Given the description of an element on the screen output the (x, y) to click on. 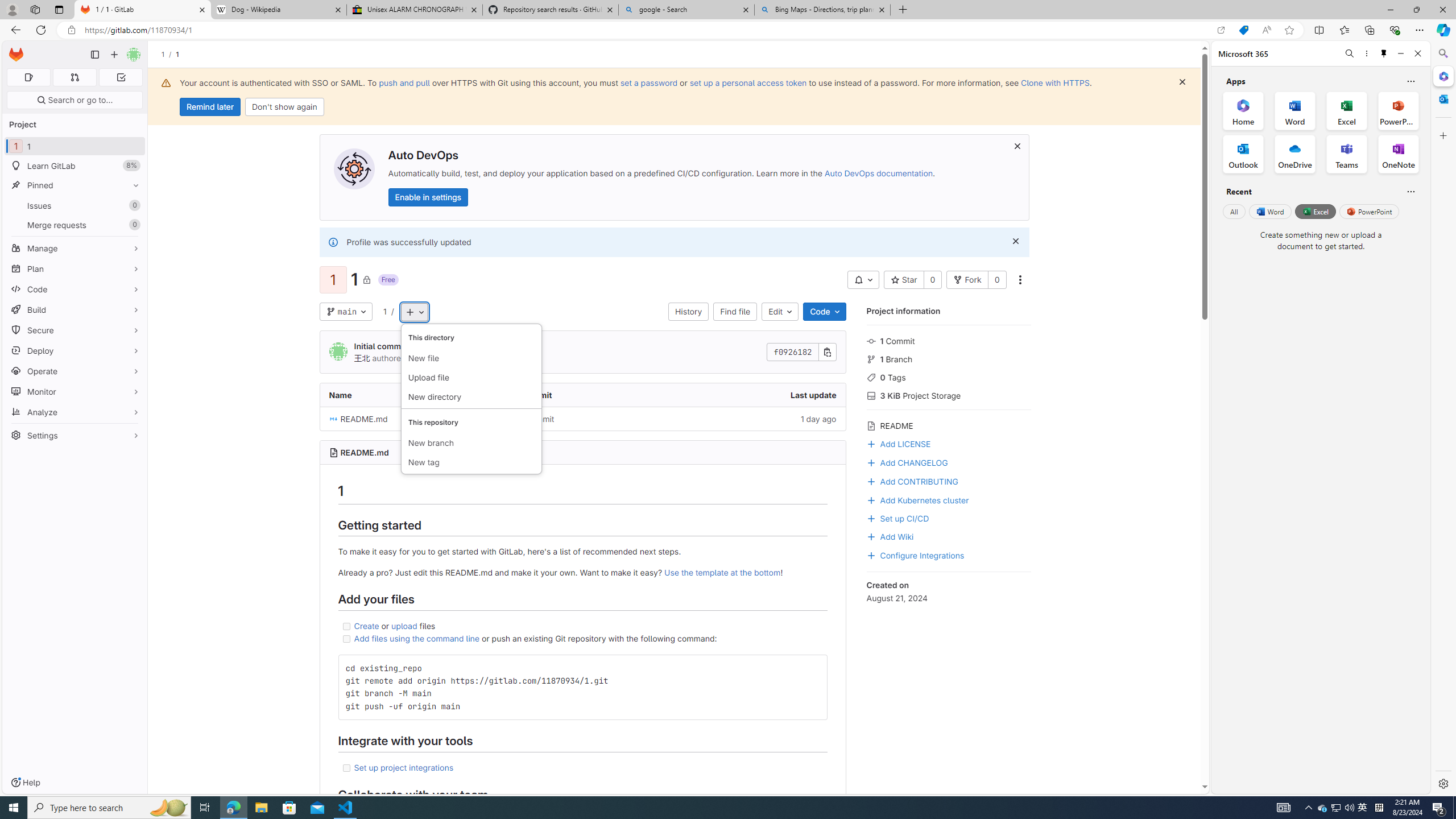
Set up CI/CD (948, 517)
Class: s16 icon (366, 279)
Last update (757, 395)
Use the template at the bottom (721, 572)
Home Office App (1243, 110)
Word Office App (1295, 110)
1 (384, 311)
Add Kubernetes cluster (948, 498)
New tag (470, 461)
Add CONTRIBUTING (912, 480)
Code (74, 289)
Manage (74, 248)
Upload file (470, 377)
